Given the description of an element on the screen output the (x, y) to click on. 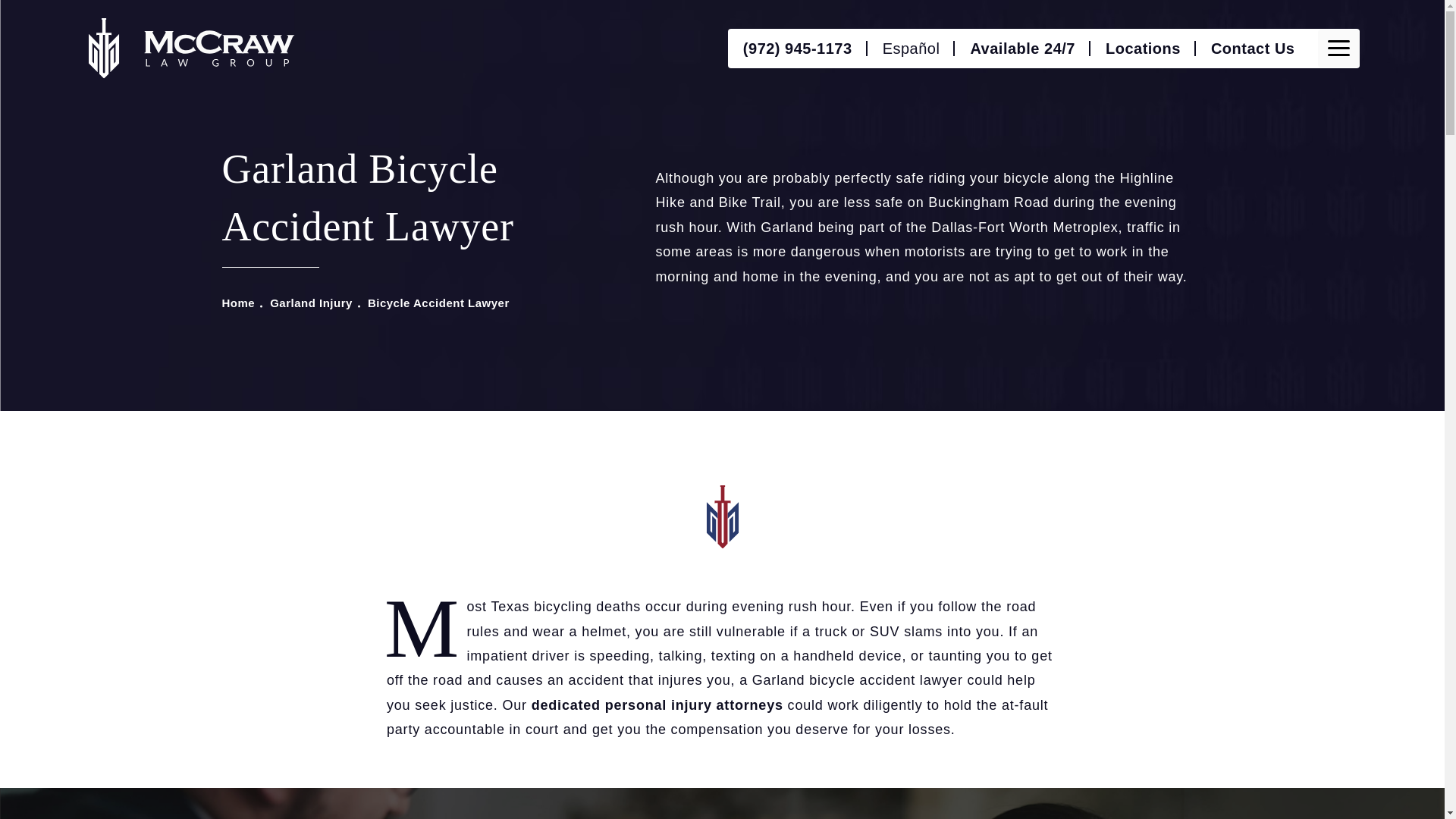
Contact Us (1252, 47)
Locations (1142, 47)
